Given the description of an element on the screen output the (x, y) to click on. 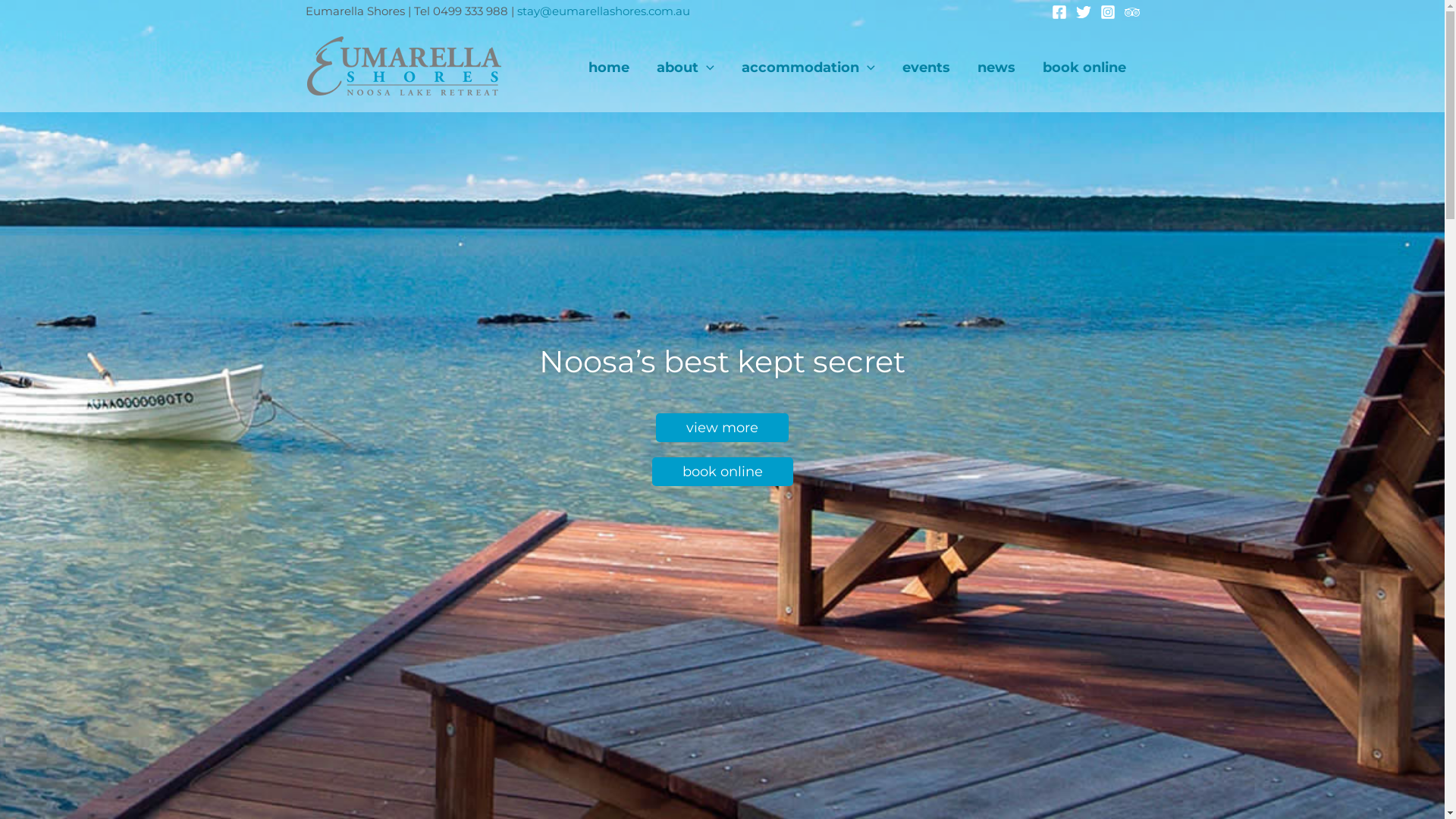
accommodation Element type: text (808, 67)
stay@eumarellashores.com.au Element type: text (603, 10)
home Element type: text (608, 67)
view more Element type: text (721, 427)
events Element type: text (925, 67)
book online Element type: text (722, 471)
about Element type: text (685, 67)
book online Element type: text (1083, 67)
news Element type: text (995, 67)
